Given the description of an element on the screen output the (x, y) to click on. 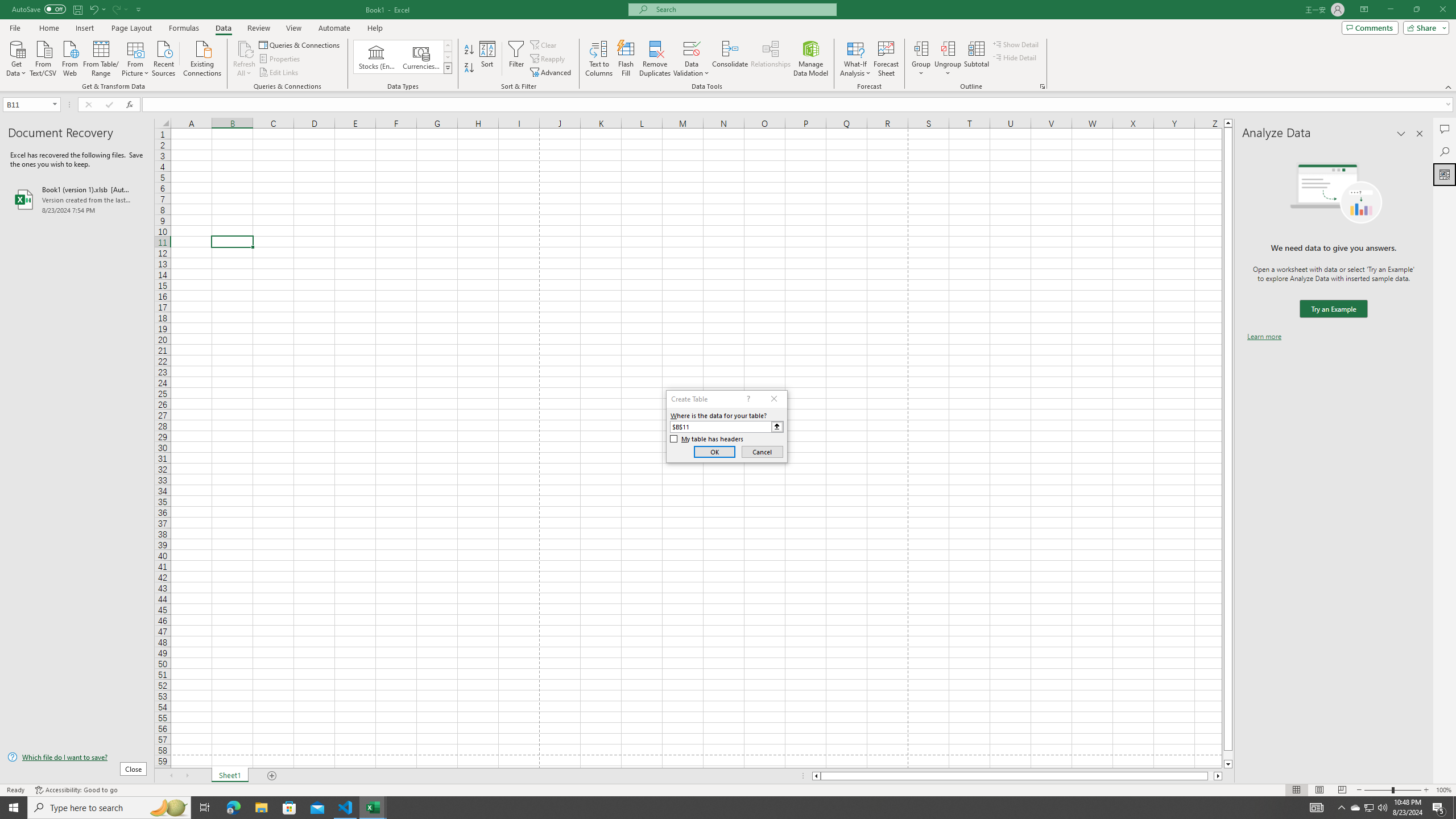
Task Pane Options (1400, 133)
Refresh All (244, 58)
What-If Analysis (855, 58)
Filter (515, 58)
Show Detail (1016, 44)
Data Types (448, 67)
From Web (69, 57)
Get Data (16, 57)
